Given the description of an element on the screen output the (x, y) to click on. 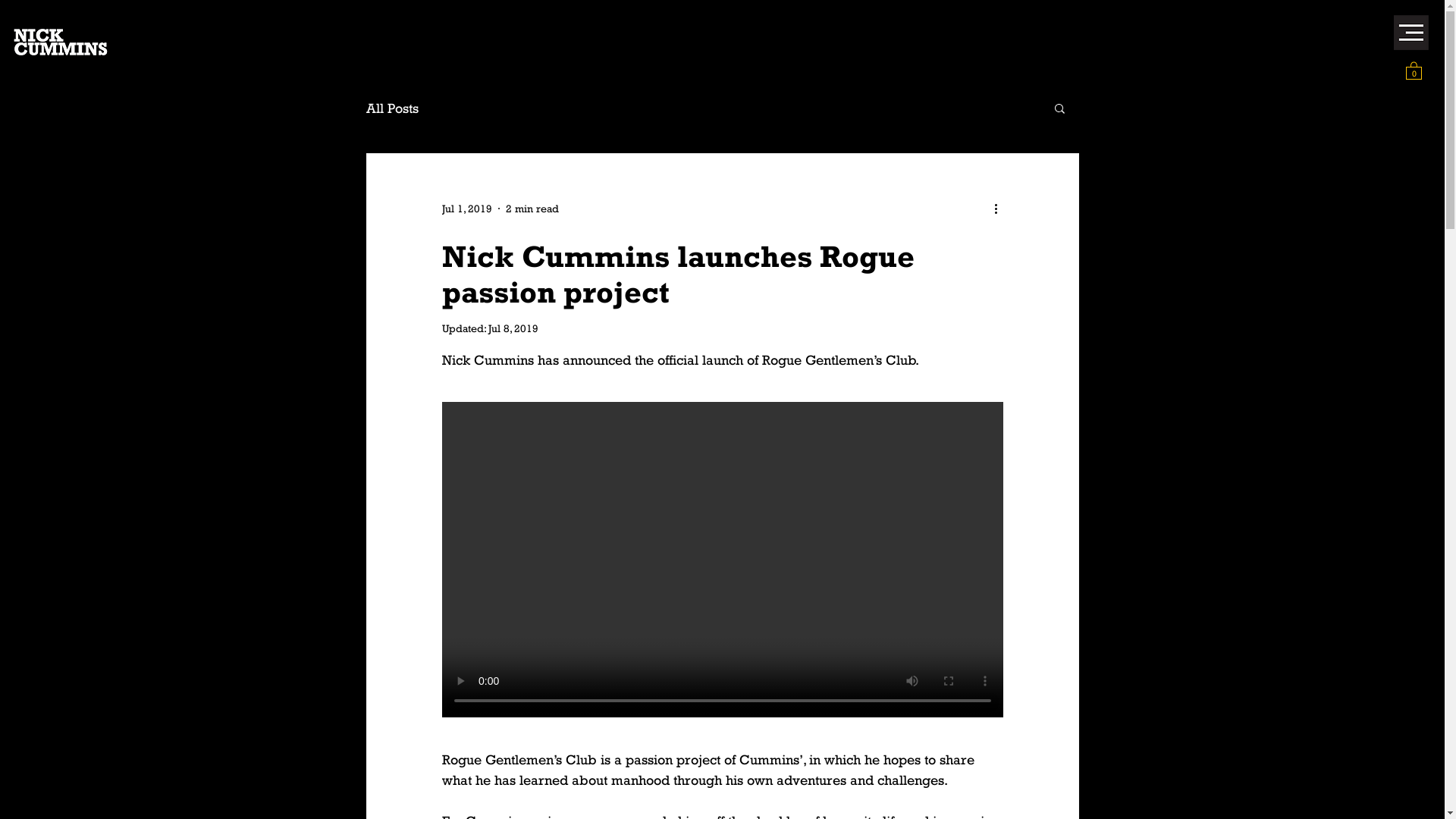
0 Element type: text (1413, 69)
All Posts Element type: text (391, 108)
Nick Cummins Logo Element type: hover (60, 42)
